Given the description of an element on the screen output the (x, y) to click on. 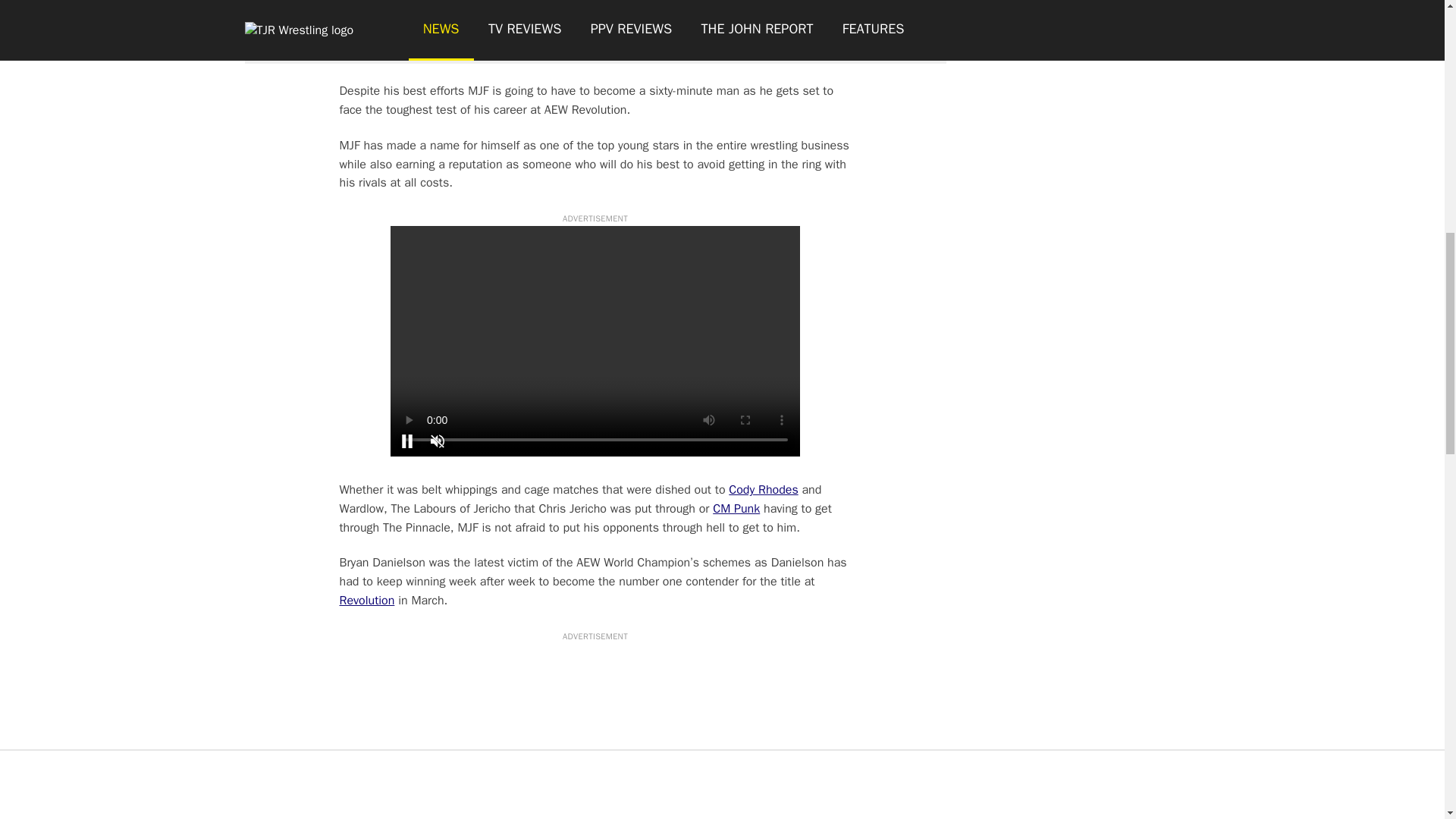
CM Punk (736, 508)
Revolution (366, 600)
Cody Rhodes (763, 489)
